Given the description of an element on the screen output the (x, y) to click on. 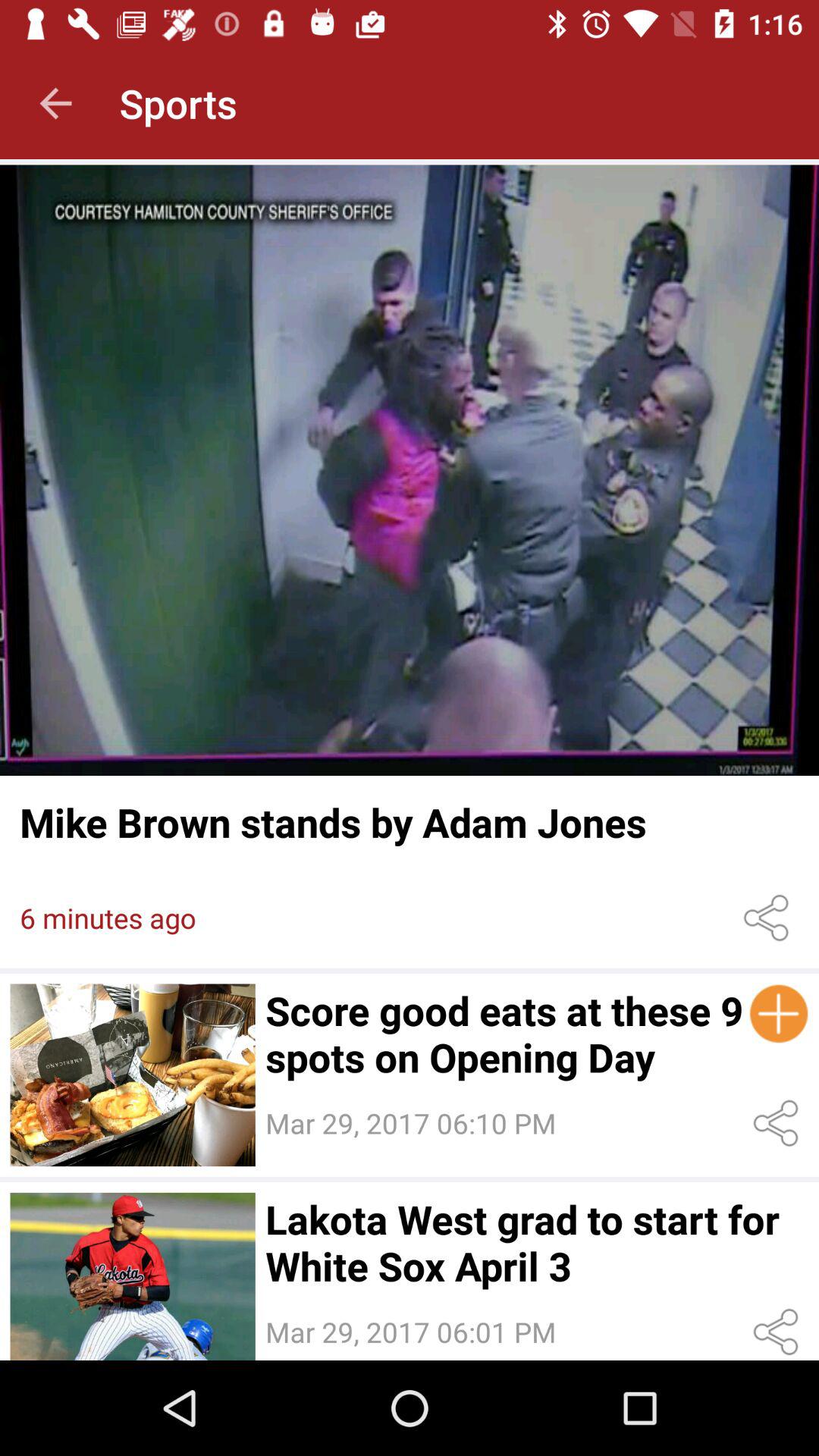
share the article (769, 918)
